Given the description of an element on the screen output the (x, y) to click on. 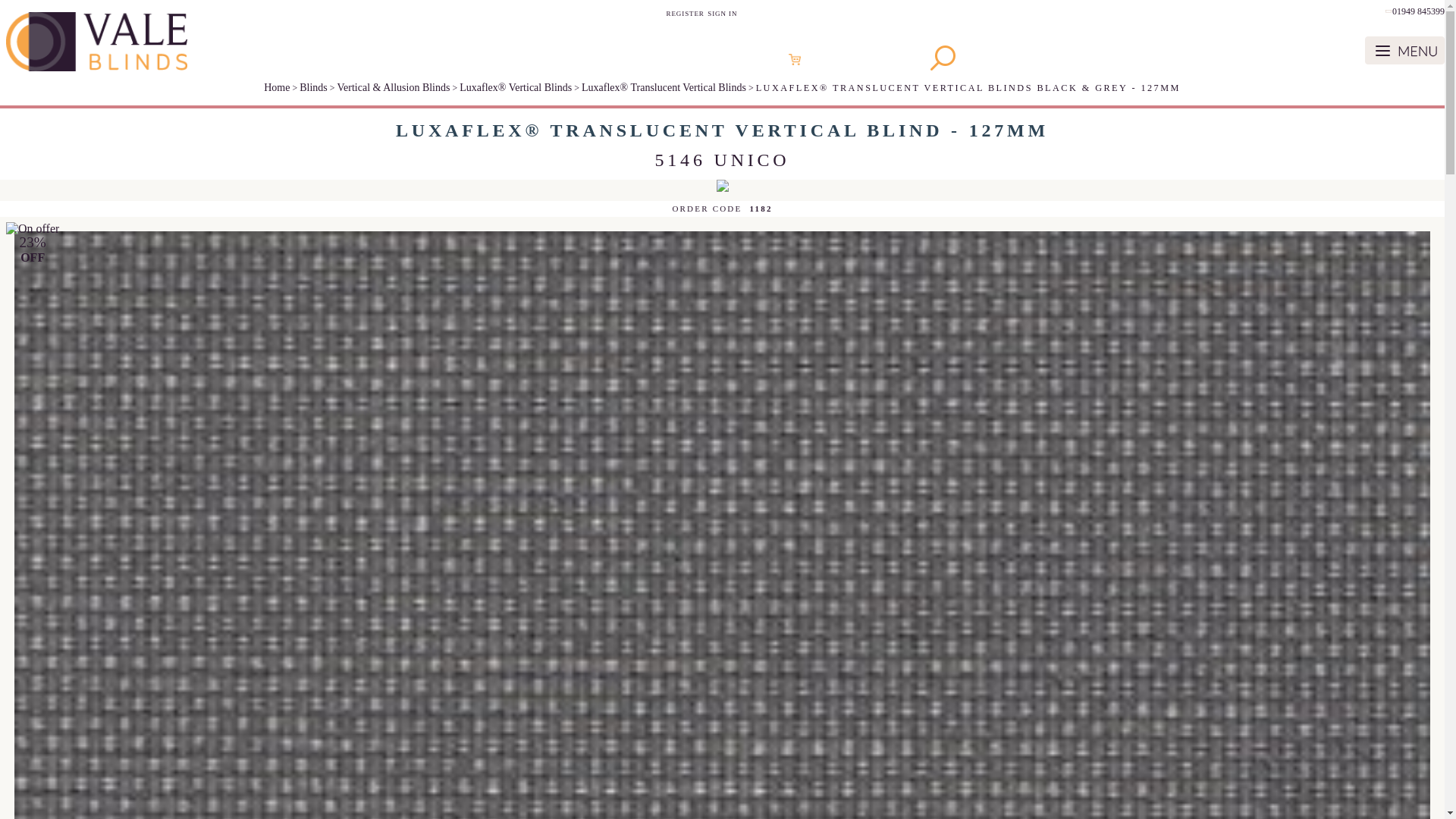
Click to search (942, 57)
REGISTER (685, 13)
Register (685, 13)
Sign in (721, 13)
SIGN IN (721, 13)
Click to search (989, 57)
